Given the description of an element on the screen output the (x, y) to click on. 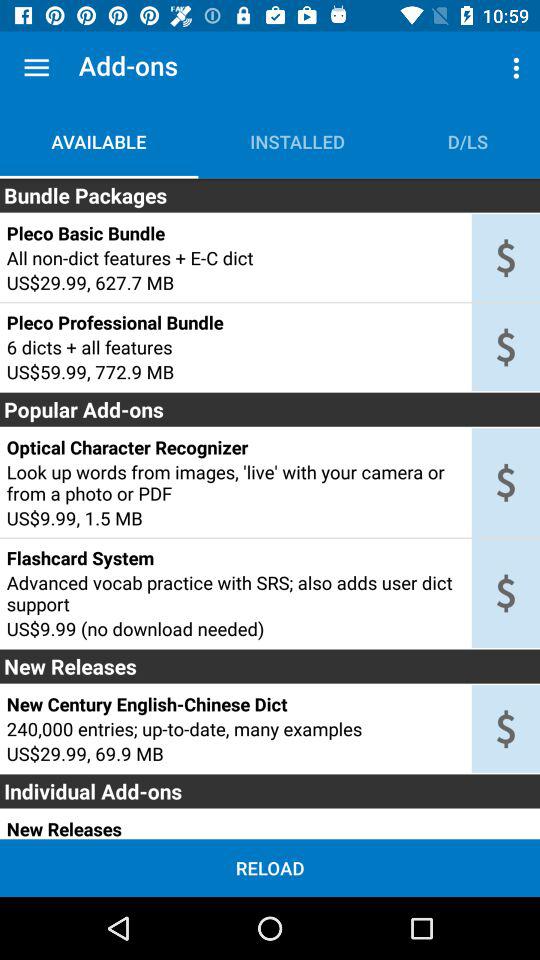
choose installed (297, 141)
